Given the description of an element on the screen output the (x, y) to click on. 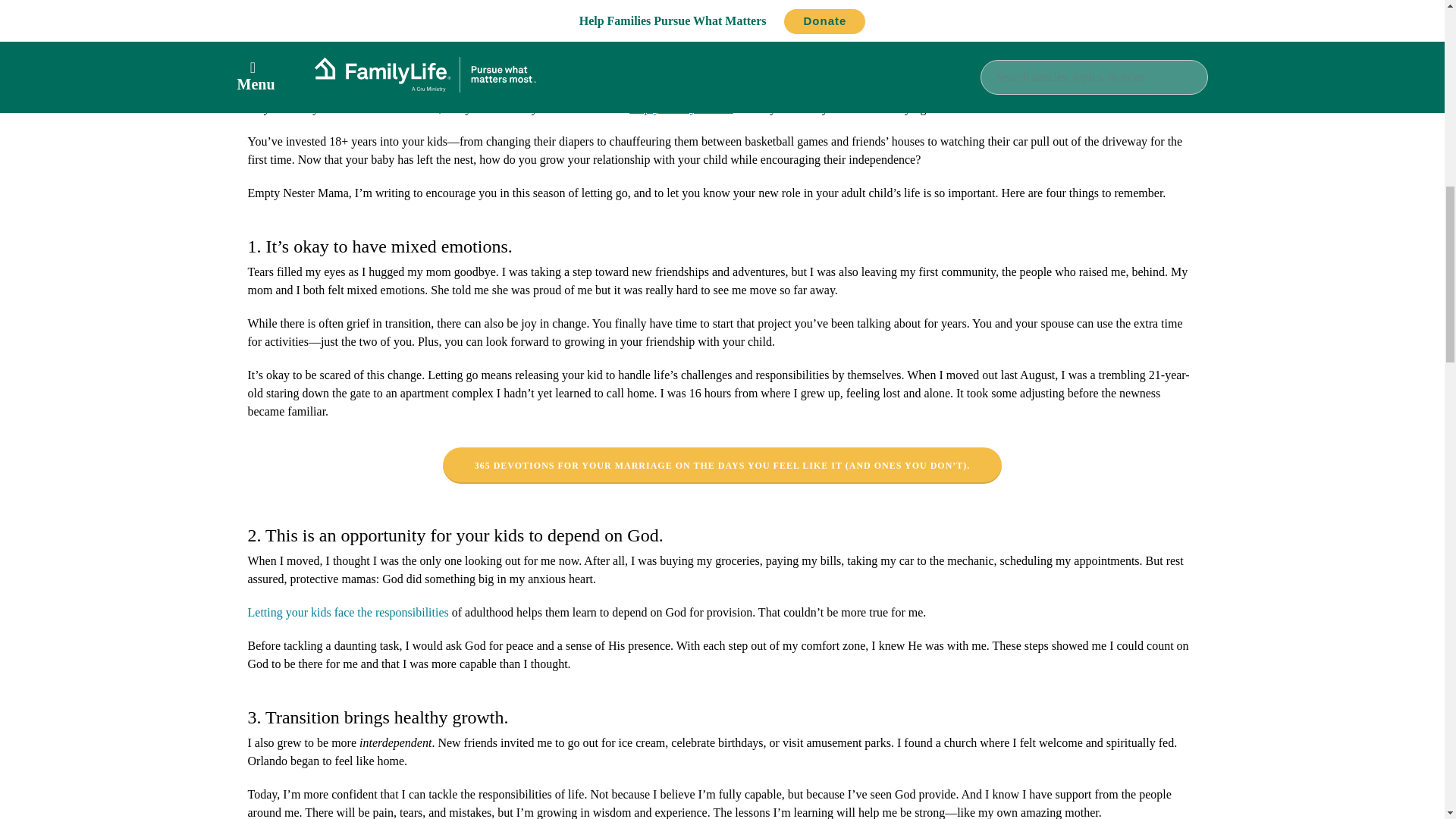
empty nest syndrome (680, 107)
Letting your kids face the responsibilities (347, 612)
